Given the description of an element on the screen output the (x, y) to click on. 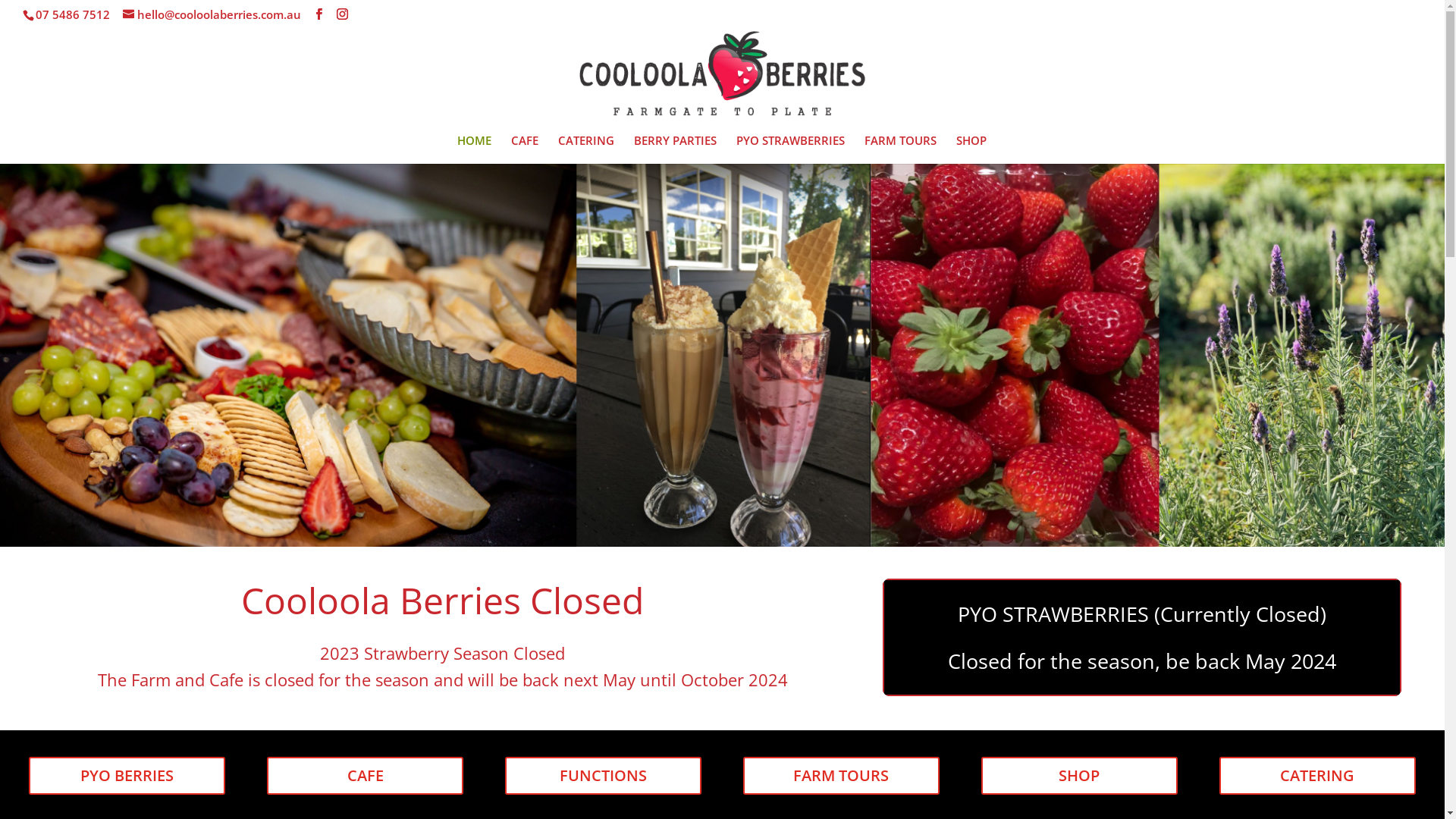
FARM TOURS Element type: text (900, 148)
BERRY PARTIES Element type: text (674, 148)
PYO STRAWBERRIES Element type: text (789, 148)
CAFE Element type: text (524, 148)
CATERING Element type: text (1317, 775)
Strawberries-and-so-much-more Element type: hover (722, 354)
FUNCTIONS Element type: text (603, 775)
PYO BERRIES Element type: text (126, 775)
CATERING Element type: text (586, 148)
hello@cooloolaberries.com.au Element type: text (211, 13)
SHOP Element type: text (1079, 775)
SHOP Element type: text (970, 148)
CAFE Element type: text (364, 775)
07 5486 7512 Element type: text (72, 13)
HOME Element type: text (473, 148)
FARM TOURS Element type: text (841, 775)
